Given the description of an element on the screen output the (x, y) to click on. 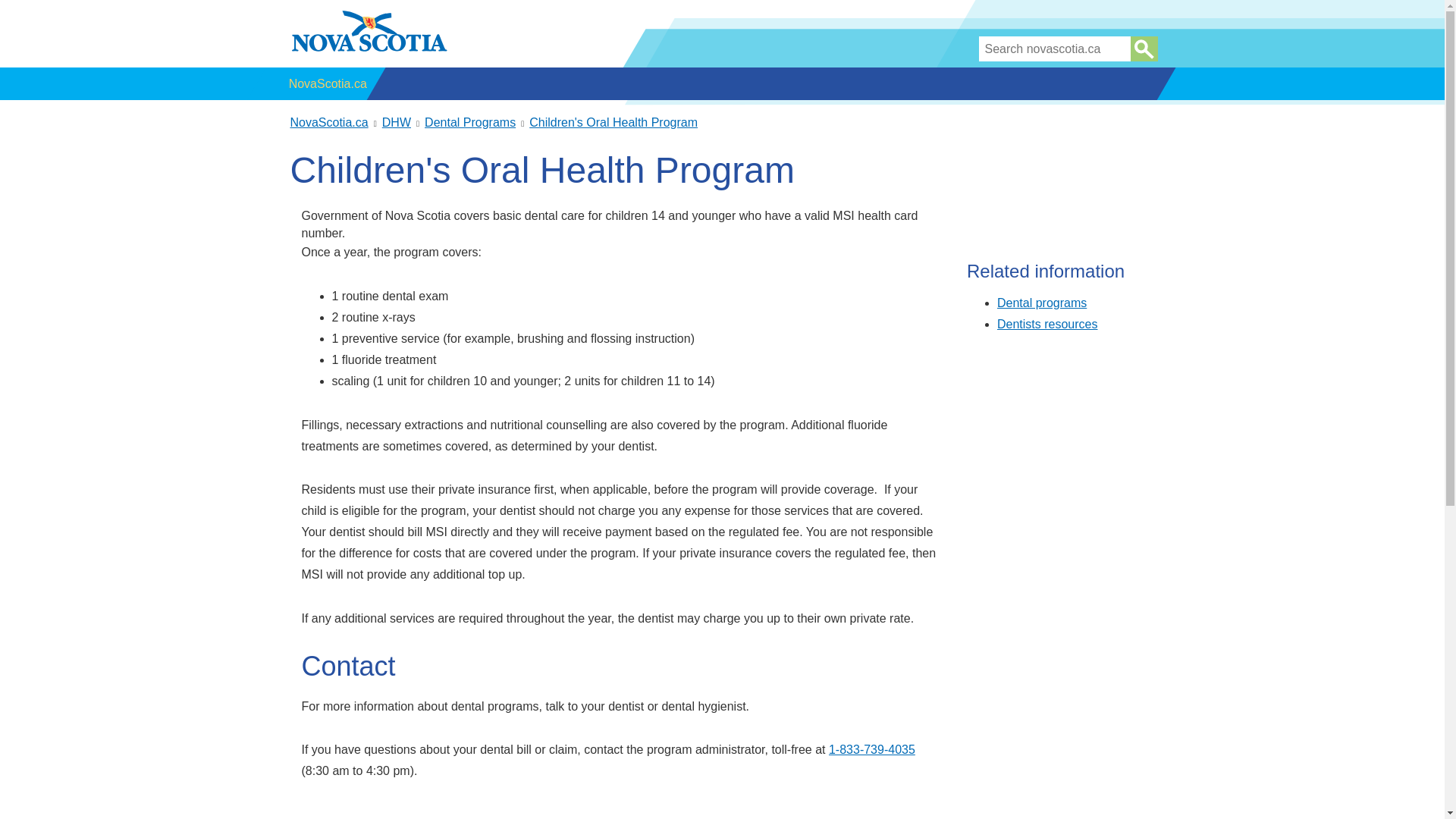
1-833-739-4035 (871, 748)
Dentists resources (1047, 323)
NovaScotia.ca (327, 83)
NovaScotia.ca (328, 122)
DHW (395, 122)
Dental Programs (470, 122)
Children's Oral Health Program (613, 122)
Search (1144, 48)
Dental programs (1041, 302)
